Given the description of an element on the screen output the (x, y) to click on. 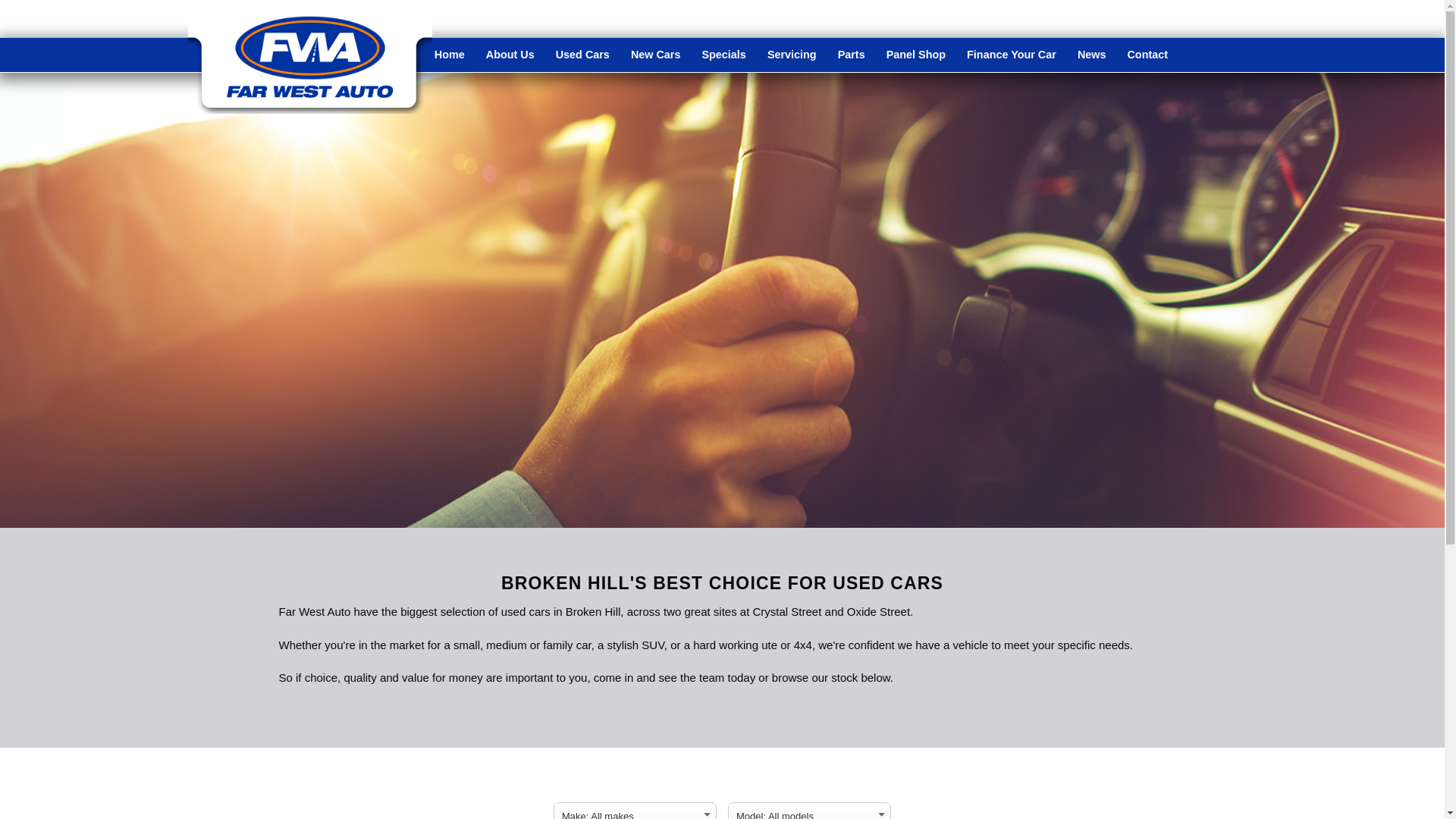
Used Cars Element type: text (582, 54)
Contact Element type: text (1146, 54)
New Cars Element type: text (655, 54)
Parts Element type: text (851, 54)
Specials Element type: text (723, 54)
Panel Shop Element type: text (915, 54)
Skip to content Element type: text (0, 0)
News Element type: text (1091, 54)
About Us Element type: text (510, 54)
Servicing Element type: text (791, 54)
Home Element type: text (449, 54)
Finance Your Car Element type: text (1011, 54)
